Given the description of an element on the screen output the (x, y) to click on. 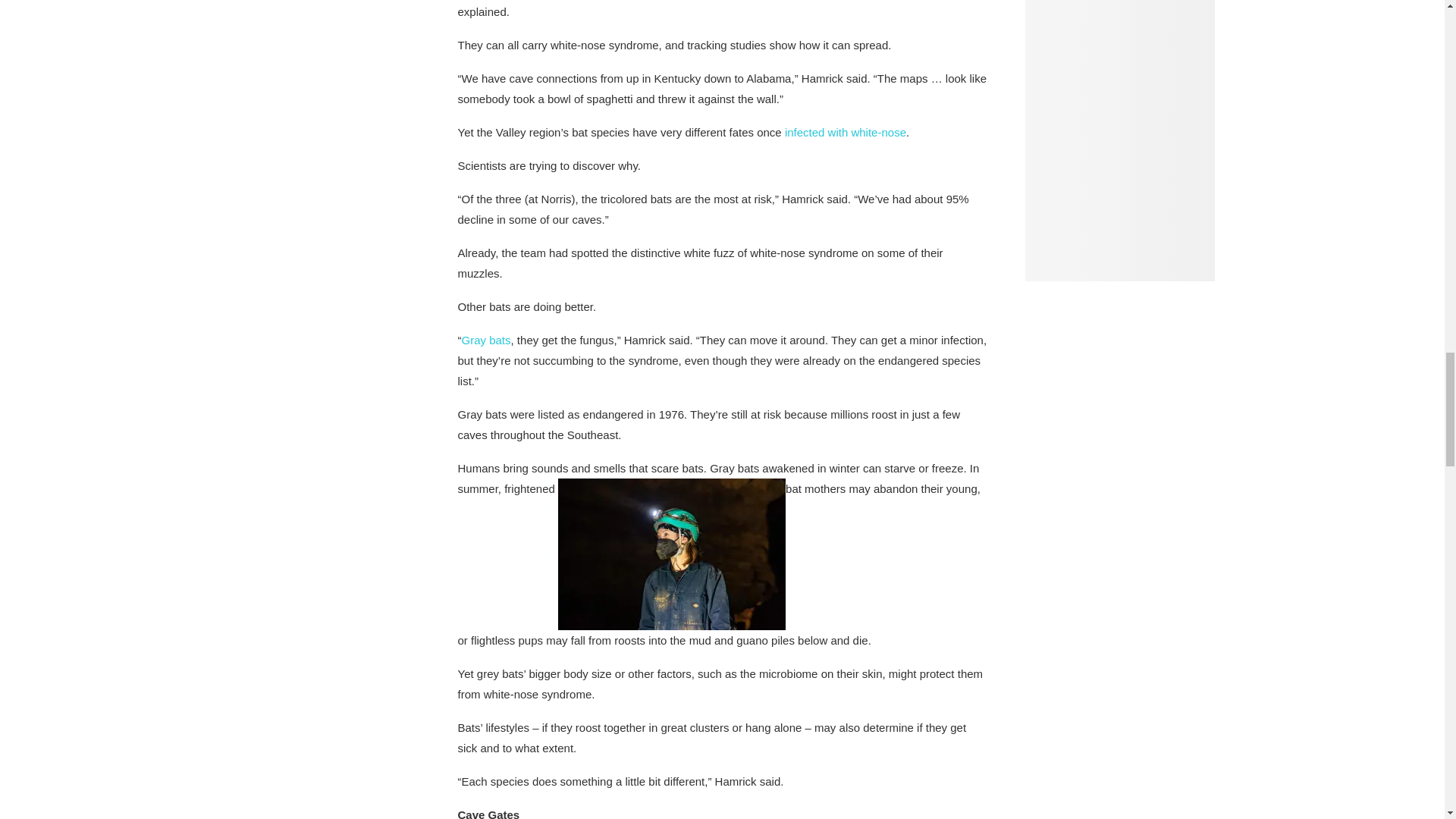
Gray bats (486, 339)
infected with white-nose (844, 132)
